Given the description of an element on the screen output the (x, y) to click on. 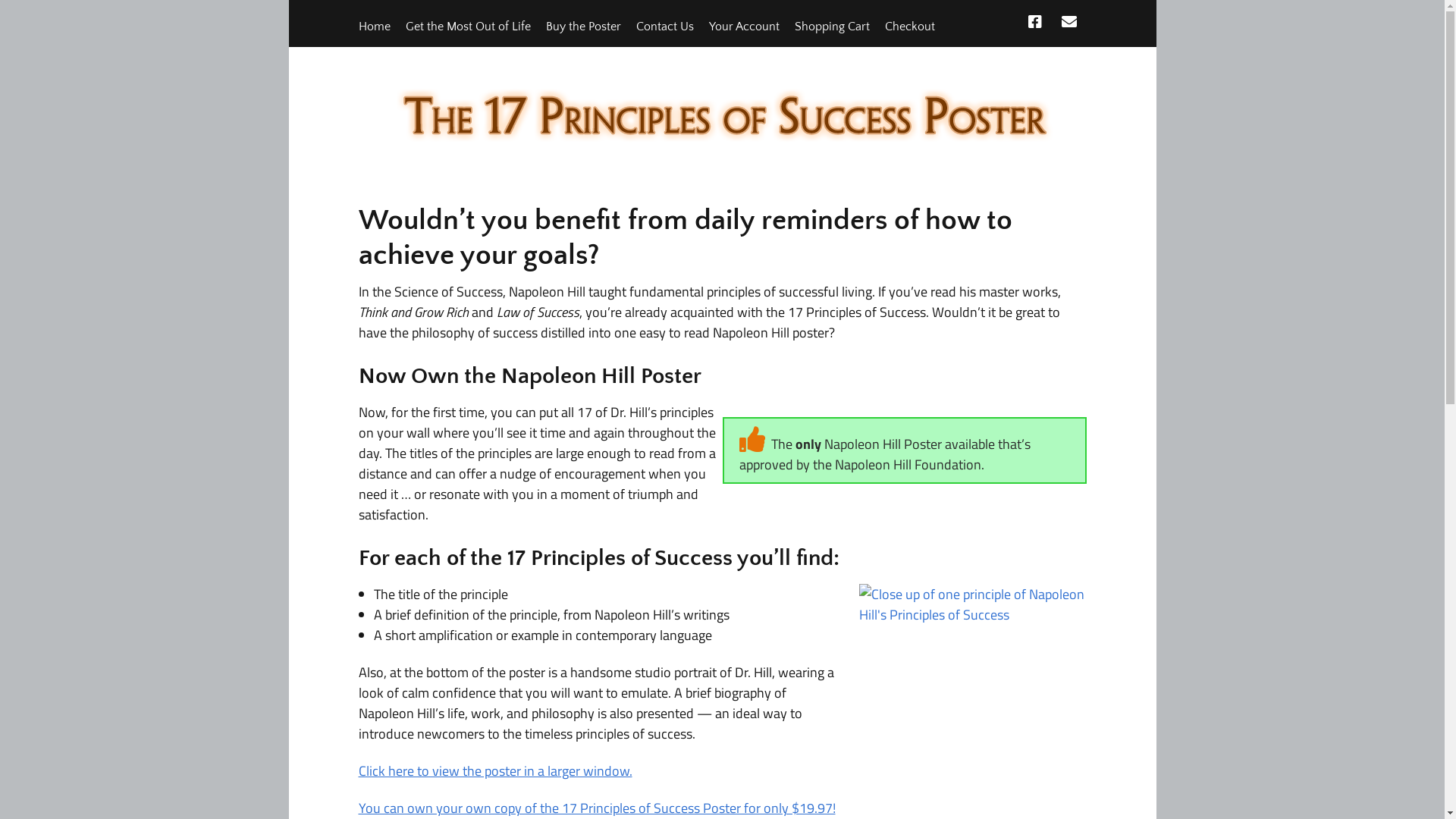
Get the Most Out of Life Element type: text (467, 26)
Checkout Element type: text (909, 26)
Shopping Cart Element type: text (831, 26)
Contact Us Element type: text (664, 26)
Home Element type: text (373, 26)
Your Account Element type: text (743, 26)
Close-up view of Napoleon Hill Poster principle Element type: hover (971, 671)
Click here to view the poster in a larger window. Element type: text (494, 770)
Buy the Poster Element type: text (583, 26)
